Given the description of an element on the screen output the (x, y) to click on. 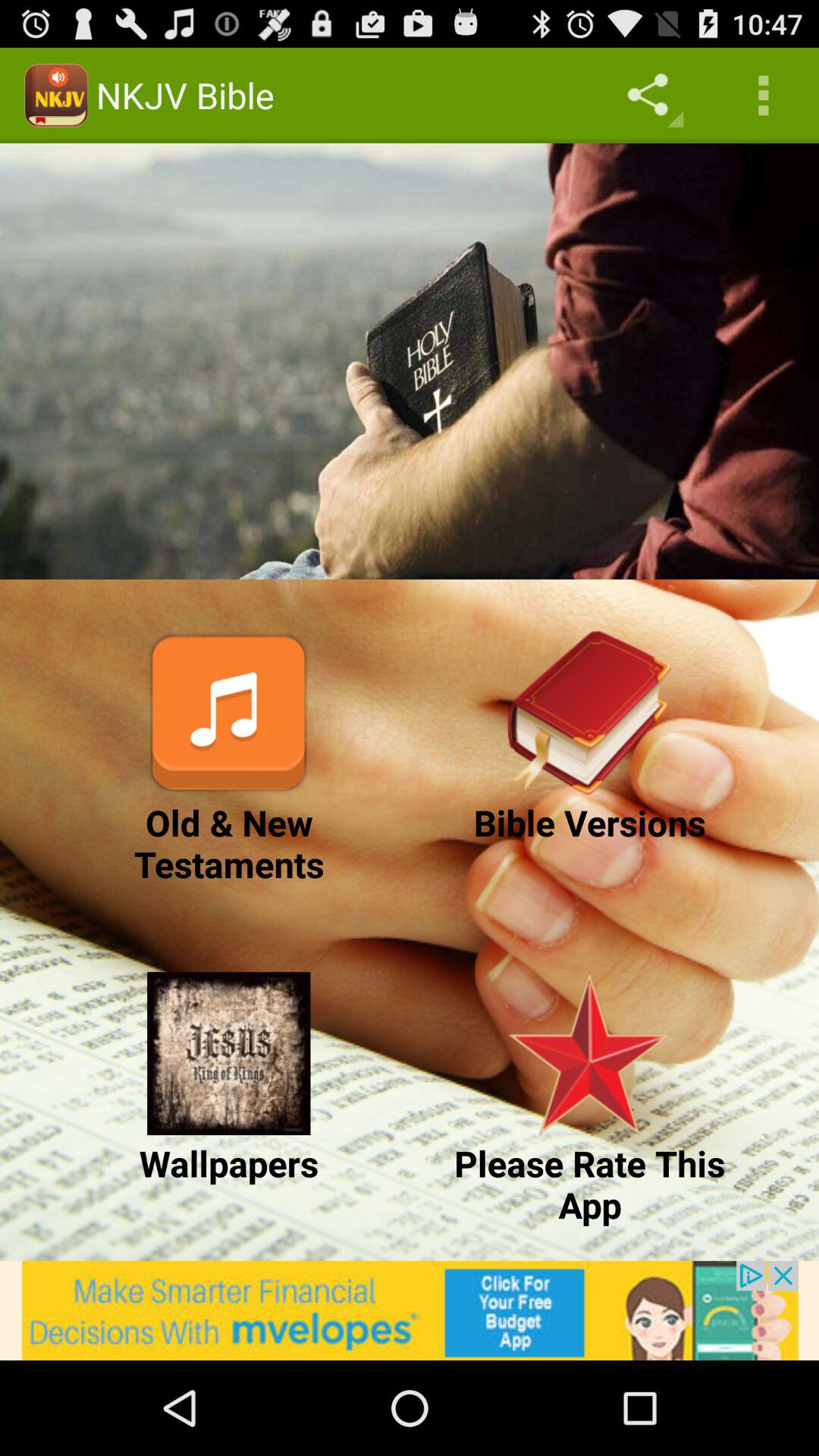
know about the advertisement (409, 1310)
